Given the description of an element on the screen output the (x, y) to click on. 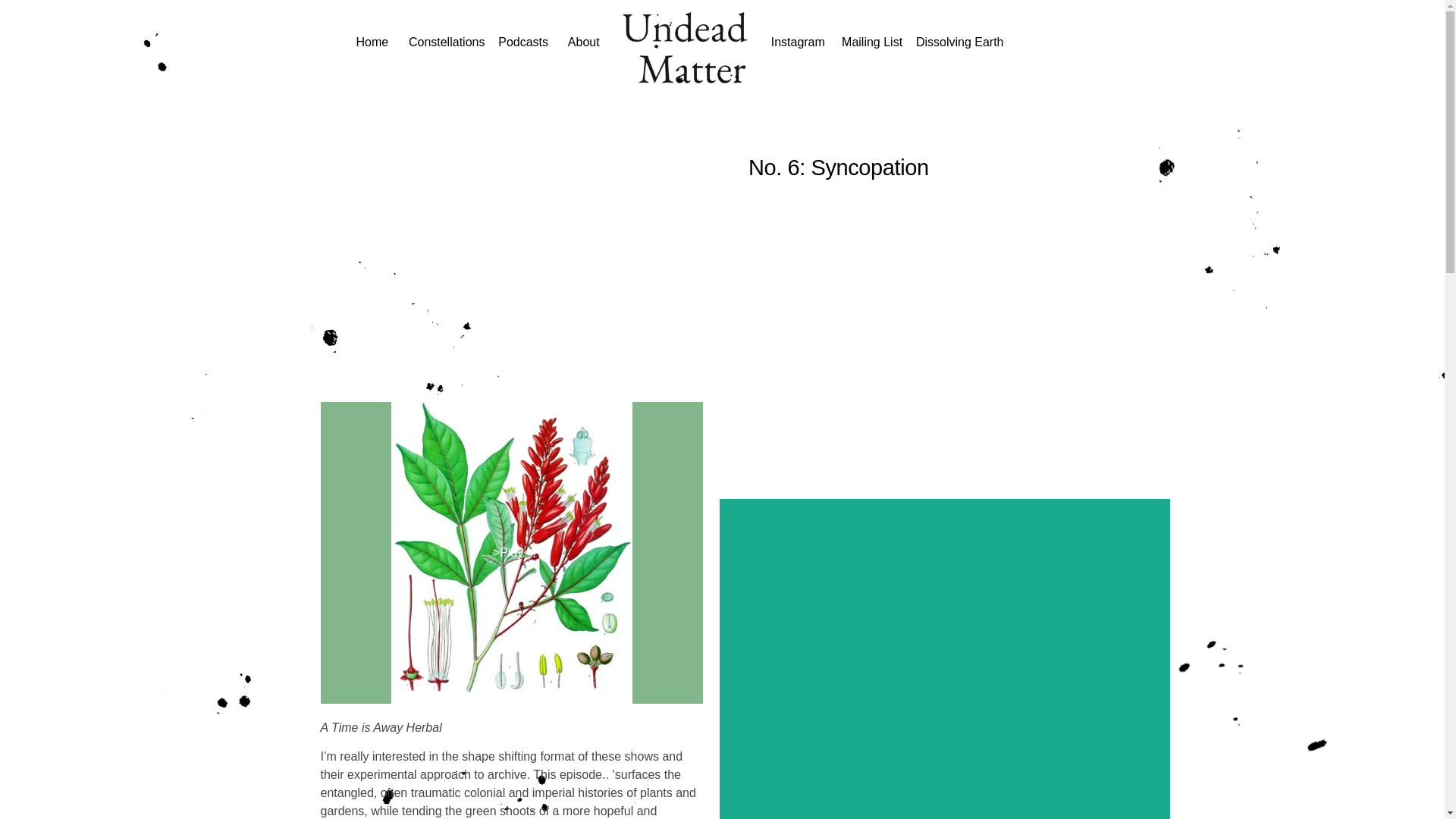
Podcasts      (530, 42)
Instagram (798, 42)
Constellations (446, 42)
Mailing List  (873, 42)
About (583, 42)
Dissolving Earth (959, 42)
Home (372, 42)
